Given the description of an element on the screen output the (x, y) to click on. 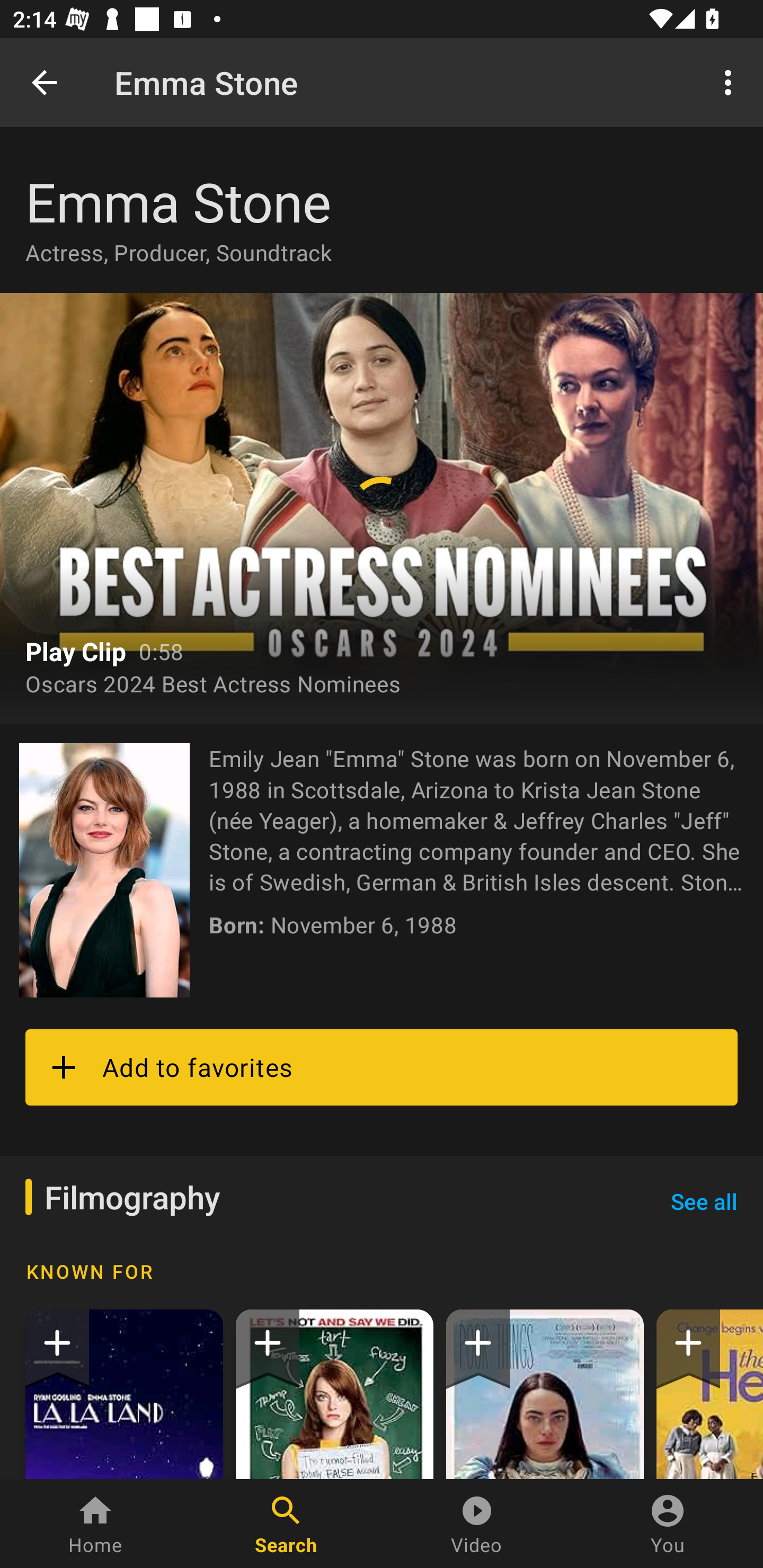
More options (731, 81)
Add to favorites (381, 1066)
See all See all  (703, 1201)
Home (95, 1523)
Video (476, 1523)
You (667, 1523)
